Given the description of an element on the screen output the (x, y) to click on. 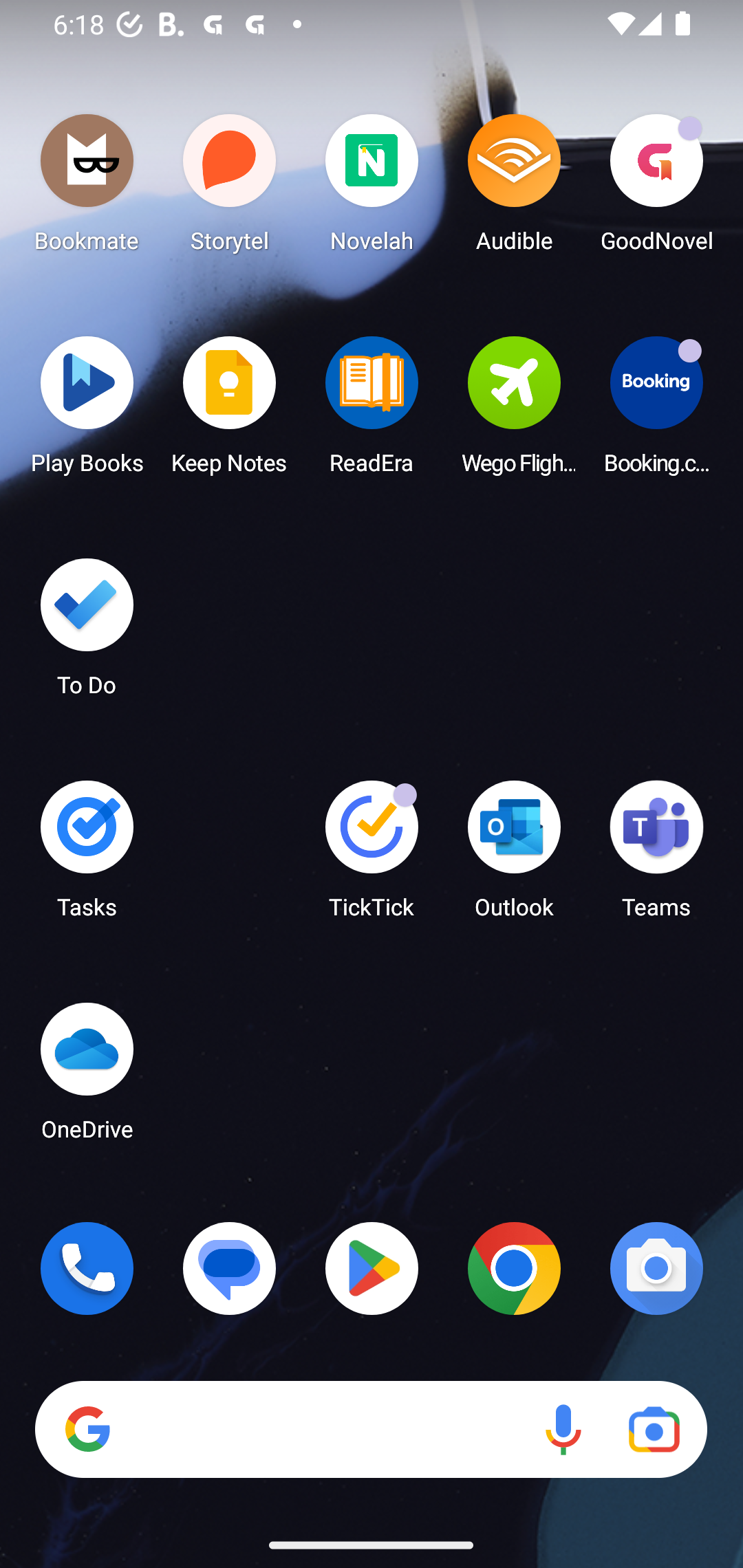
Bookmate (86, 188)
Storytel (229, 188)
Novelah (371, 188)
Audible (513, 188)
GoodNovel GoodNovel has 19 notifications (656, 188)
Play Books (86, 410)
Keep Notes (229, 410)
ReadEra (371, 410)
Wego Flights & Hotels (513, 410)
Booking.com Booking.com has 1 notification (656, 410)
To Do (86, 633)
Tasks (86, 854)
TickTick TickTick has 3 notifications (371, 854)
Outlook (513, 854)
Teams (656, 854)
OneDrive (86, 1076)
Phone (86, 1268)
Messages (229, 1268)
Play Store (371, 1268)
Chrome (513, 1268)
Camera (656, 1268)
Search Voice search Google Lens (370, 1429)
Voice search (562, 1429)
Google Lens (653, 1429)
